Given the description of an element on the screen output the (x, y) to click on. 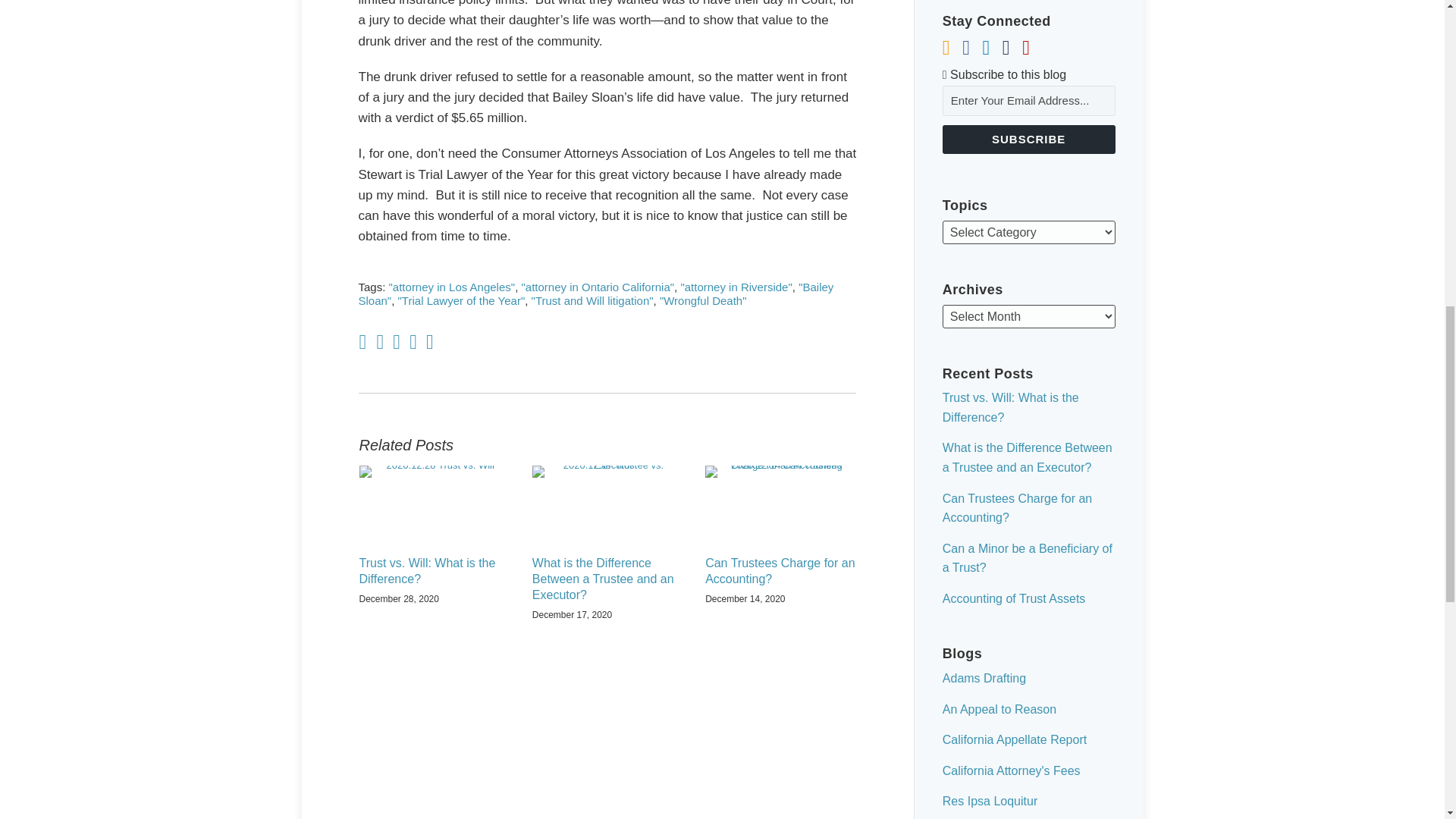
"Wrongful Death" (702, 300)
"Bailey Sloan" (595, 293)
"Trust and Will litigation" (592, 300)
Trust vs. Will: What is the Difference? (434, 572)
Can Trustees Charge for an Accounting? (780, 572)
Subscribe (1028, 139)
"Trial Lawyer of the Year" (461, 300)
What is the Difference Between a Trustee and an Executor? (607, 579)
"attorney in Ontario California" (597, 286)
"attorney in Los Angeles" (451, 286)
"attorney in Riverside" (735, 286)
